Given the description of an element on the screen output the (x, y) to click on. 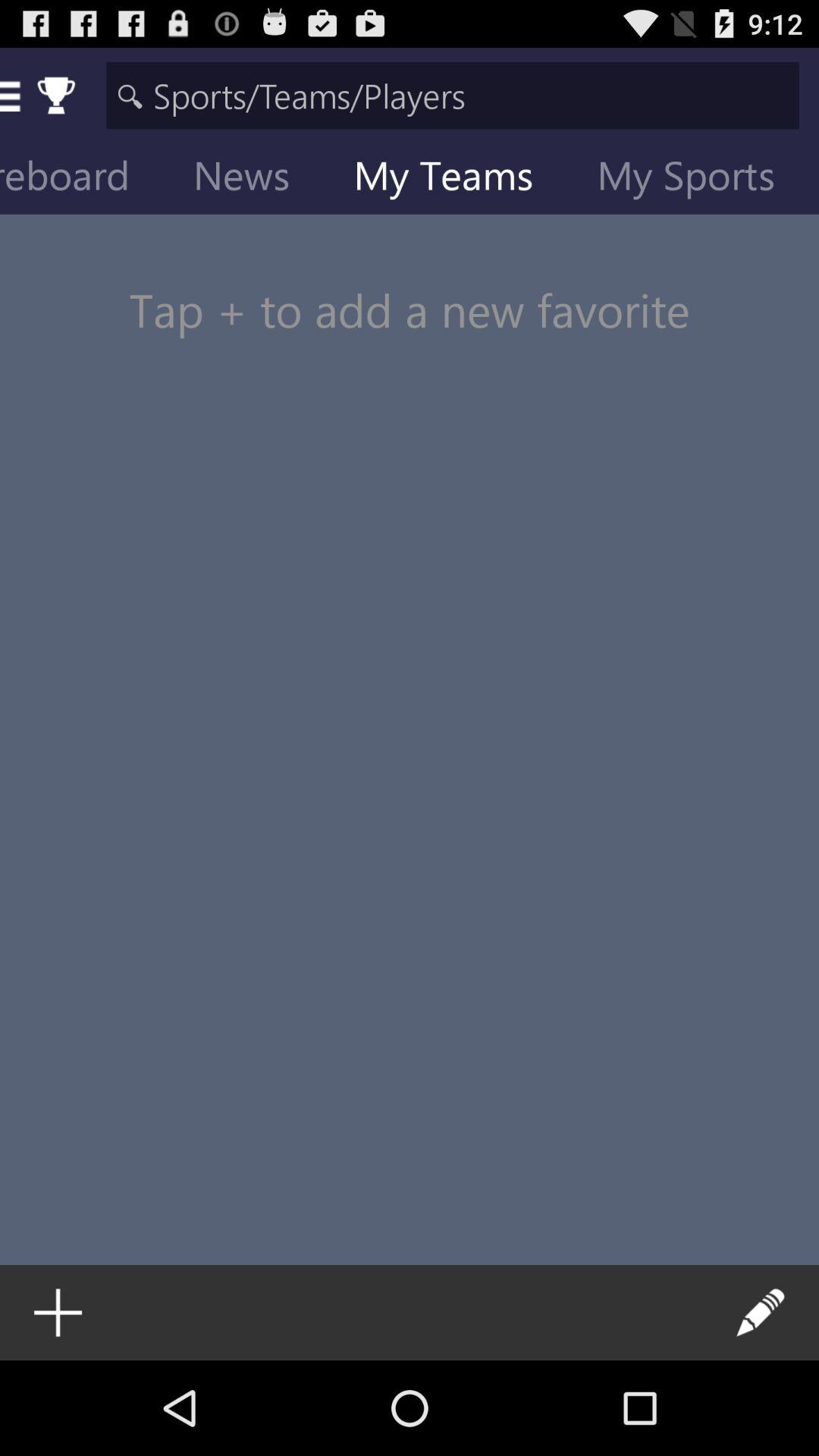
select icon to the right of the my teams icon (698, 178)
